Given the description of an element on the screen output the (x, y) to click on. 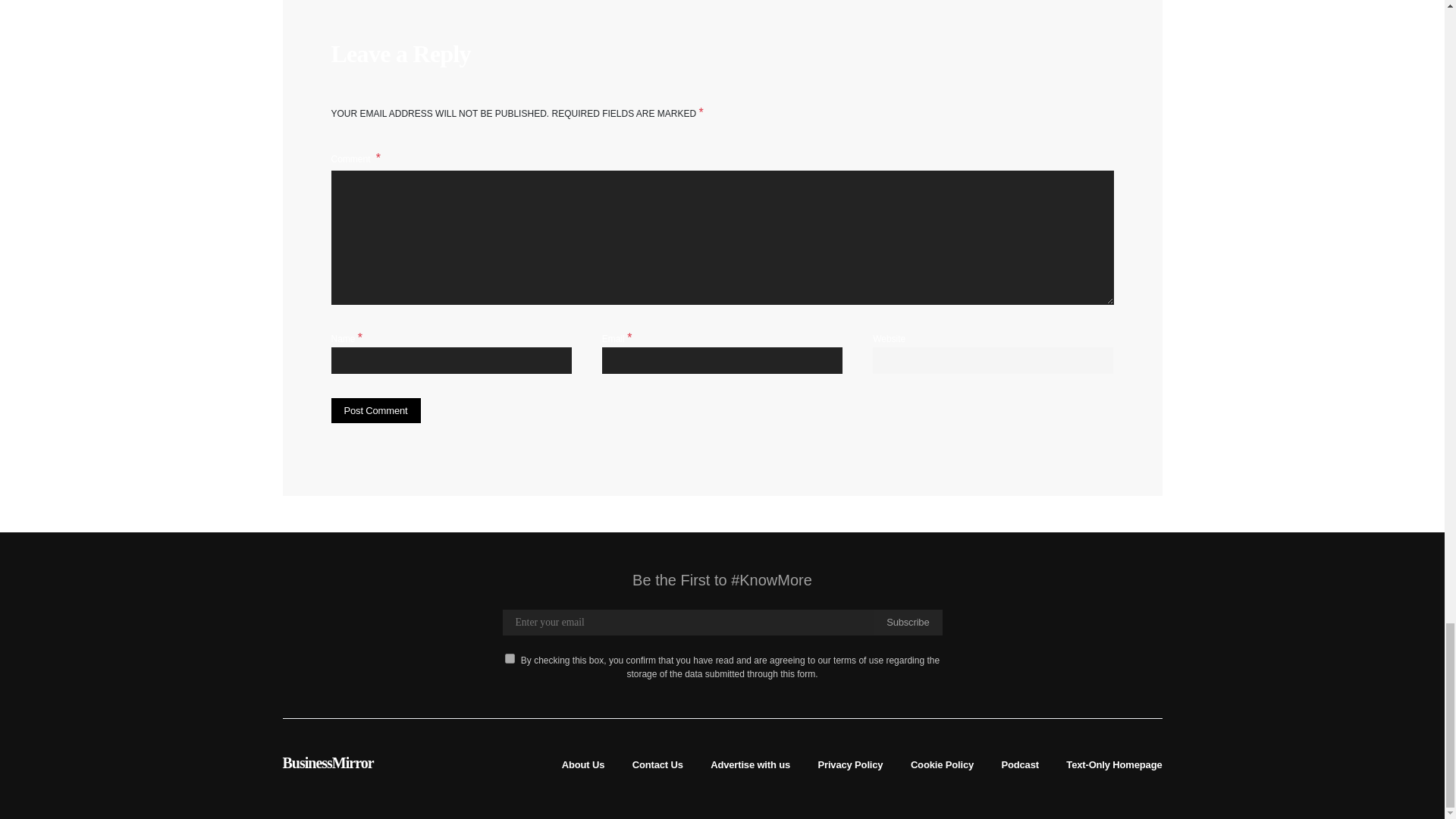
Post Comment (375, 411)
on (510, 658)
